Given the description of an element on the screen output the (x, y) to click on. 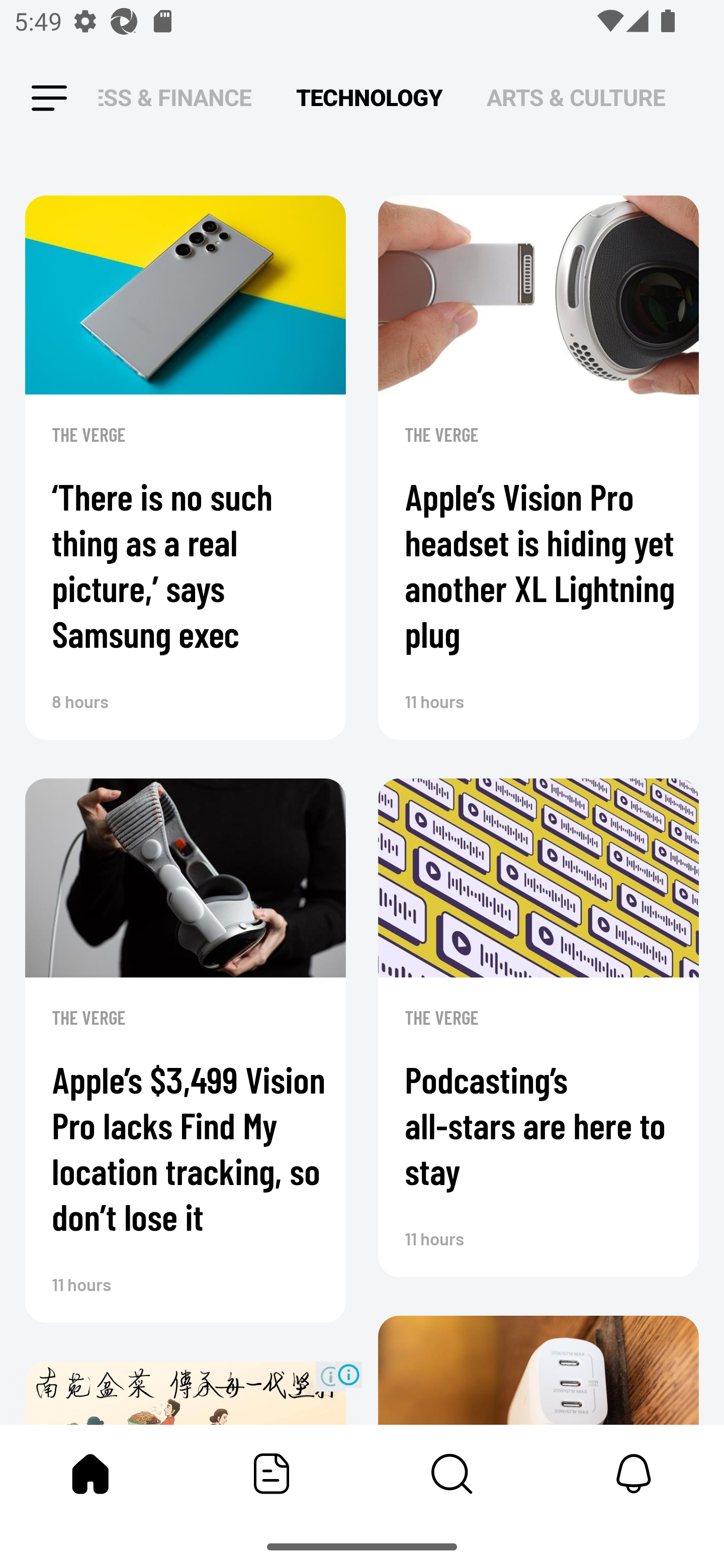
Leading Icon (49, 98)
BUSINESS & FINANCE (174, 97)
ARTS & CULTURE (575, 97)
Ad Choices Icon (348, 1374)
Featured (271, 1473)
Content Store (452, 1473)
Notifications (633, 1473)
